Given the description of an element on the screen output the (x, y) to click on. 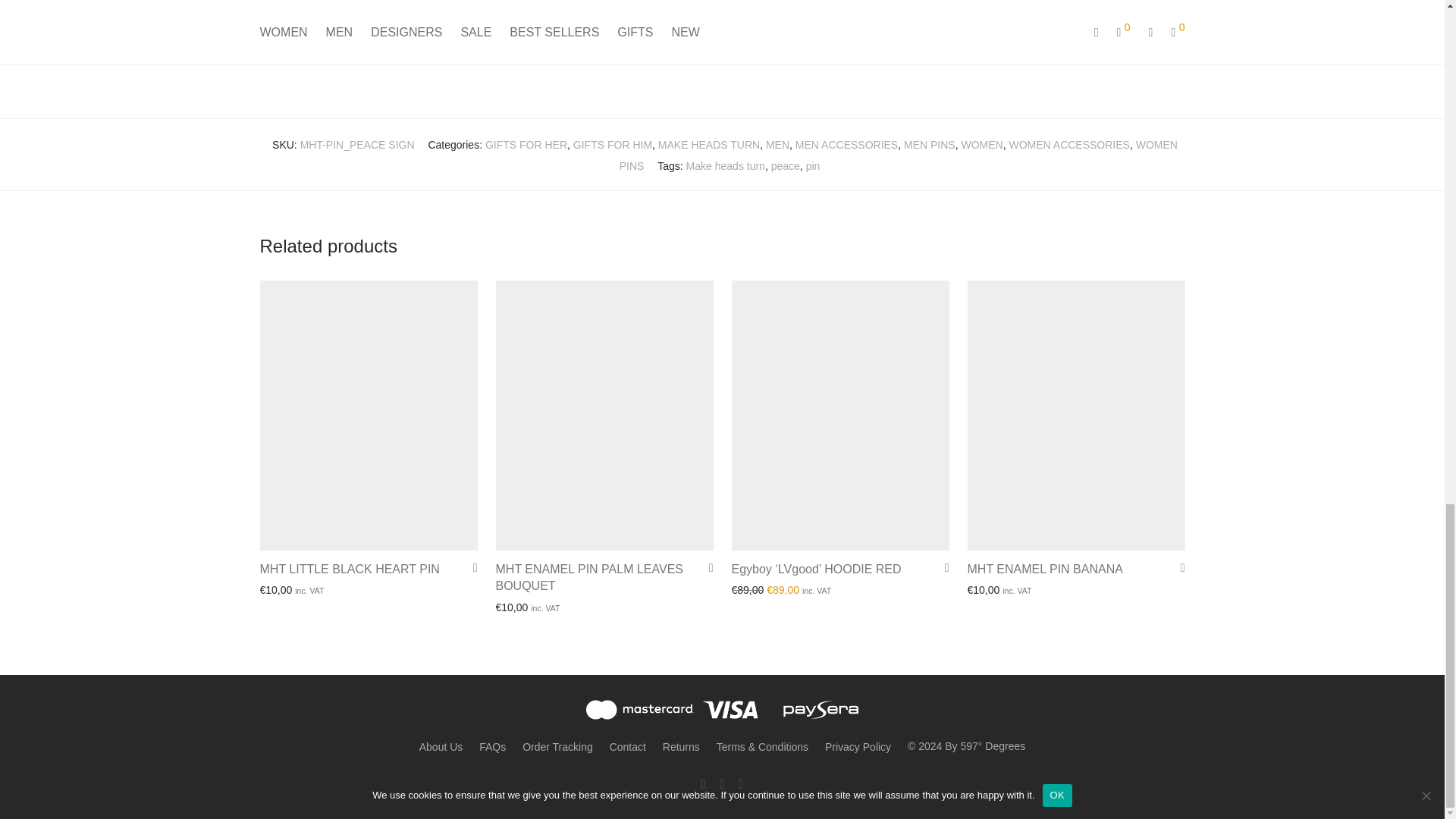
Add to Wishlist (941, 567)
Add to Wishlist (470, 567)
Add to Wishlist (1177, 567)
Add to Wishlist (705, 567)
